Given the description of an element on the screen output the (x, y) to click on. 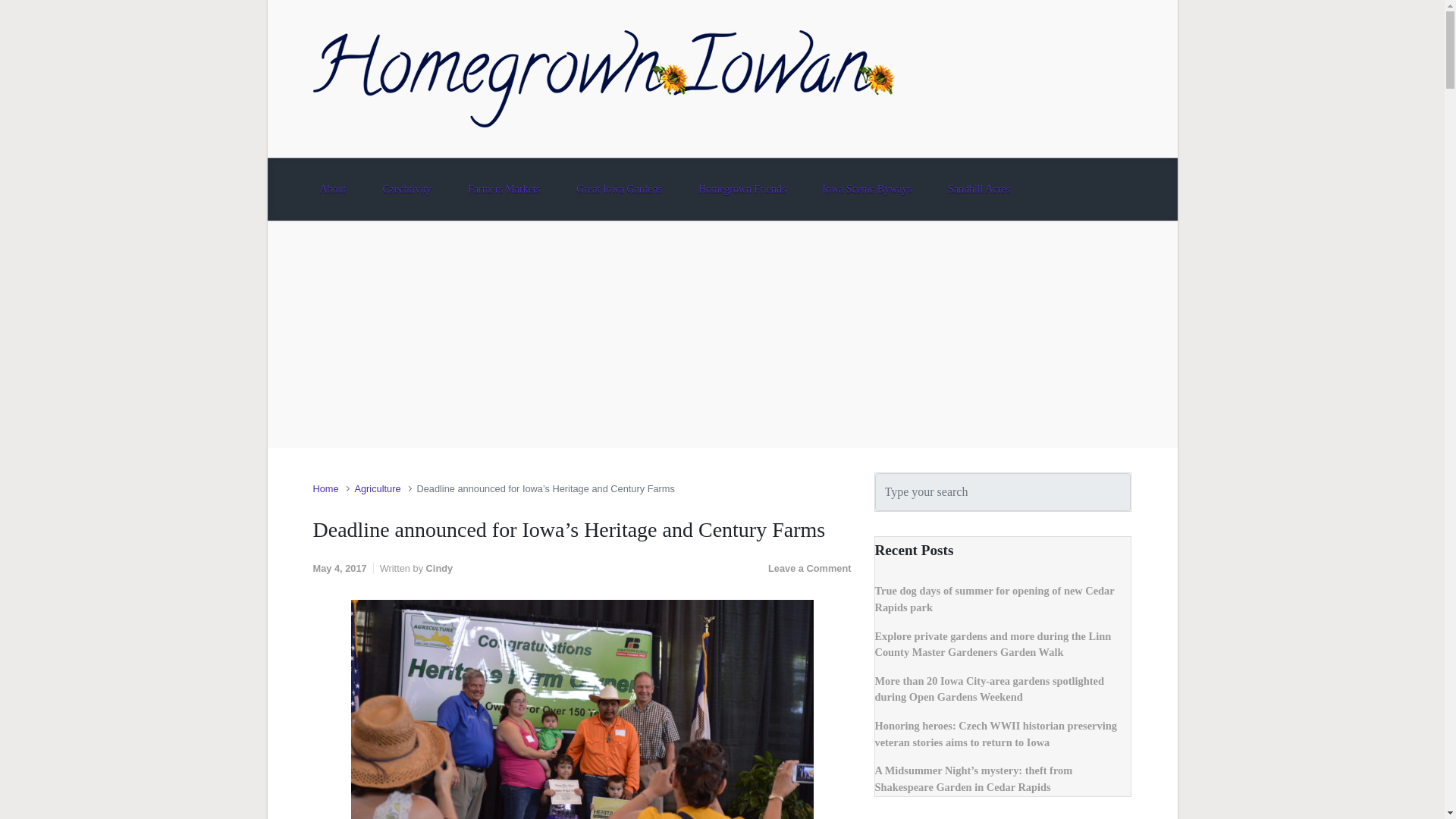
Cindy (439, 568)
True dog days of summer for opening of new Cedar Rapids park (995, 599)
Great Iowa Gardens (619, 188)
Skip to main content (17, 8)
Sandhill Acres (979, 188)
About (332, 188)
Agriculture (376, 488)
View all posts by Cindy (439, 568)
Leave a Comment (809, 568)
Iowa Scenic Byways (866, 188)
Agriculture (376, 488)
Homegrown Friends (741, 188)
Home (325, 488)
